Given the description of an element on the screen output the (x, y) to click on. 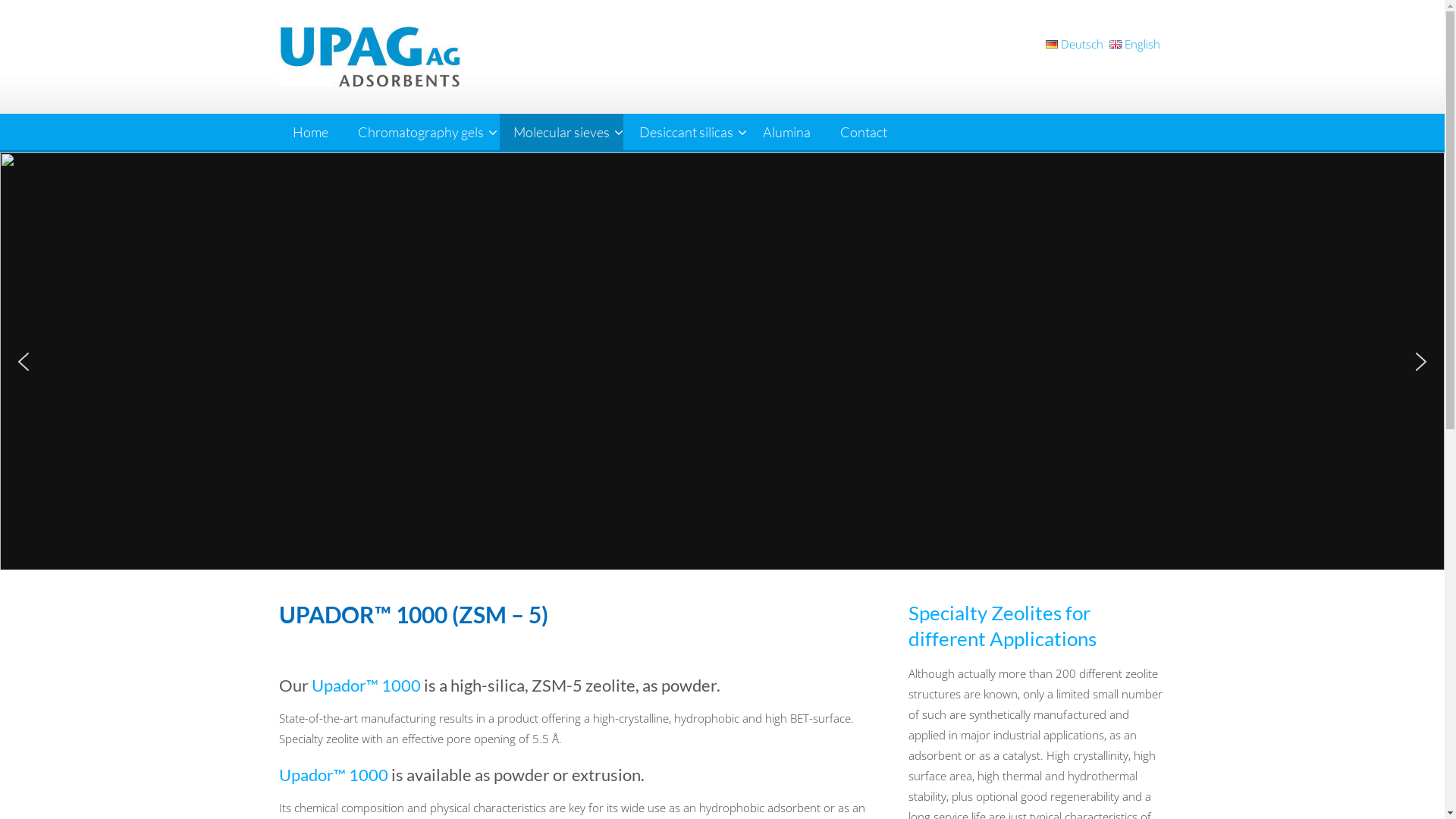
Contact Element type: text (863, 131)
Desiccant silicas Element type: text (685, 131)
Chromatography gels Element type: text (420, 131)
Home Element type: text (310, 131)
Alumina Element type: text (786, 131)
English Element type: text (1136, 44)
Molecular sieves Element type: text (560, 131)
Deutsch Element type: text (1076, 44)
